Given the description of an element on the screen output the (x, y) to click on. 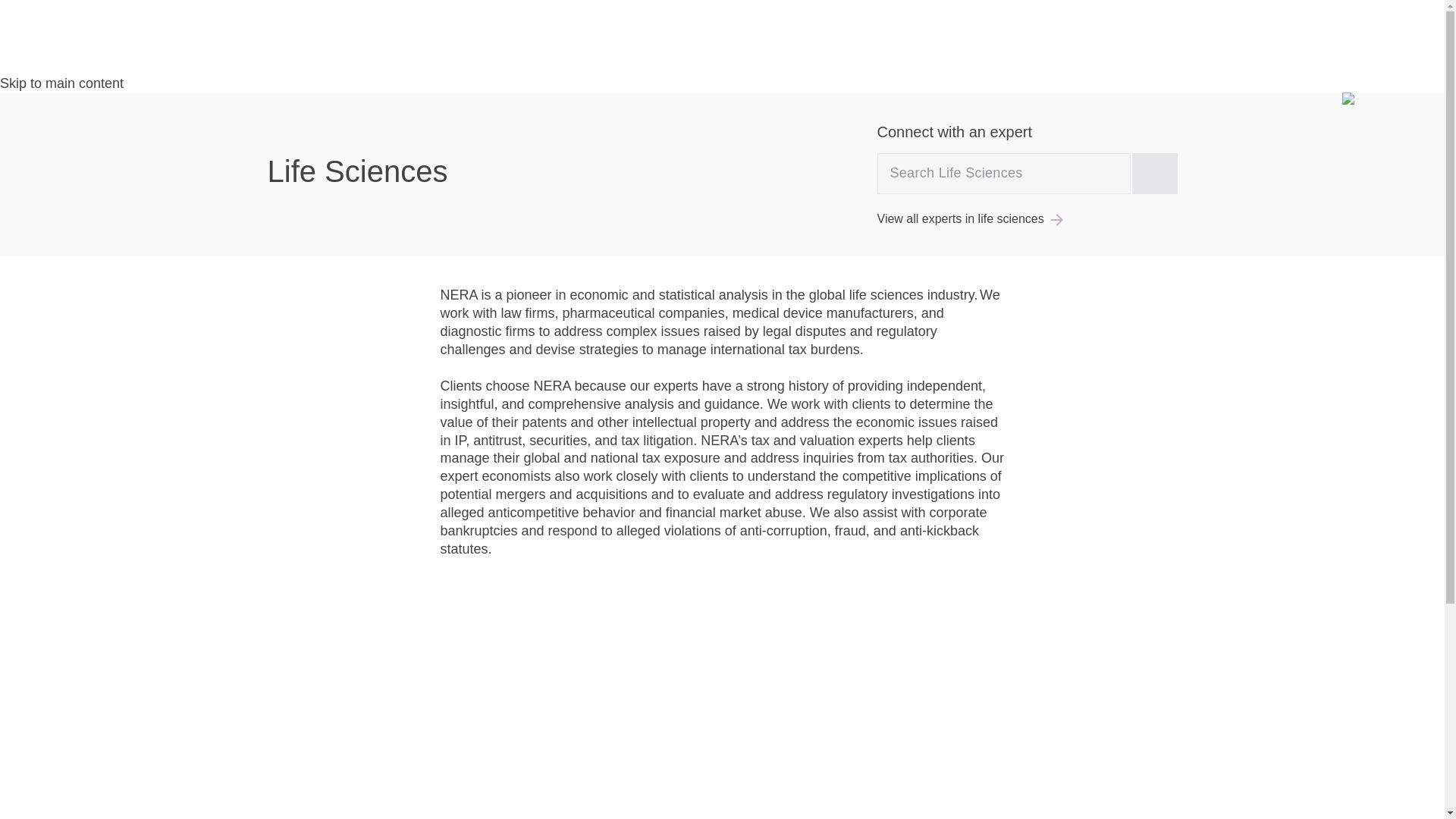
Skip to main content (61, 83)
View all experts in life sciences  (962, 219)
